Given the description of an element on the screen output the (x, y) to click on. 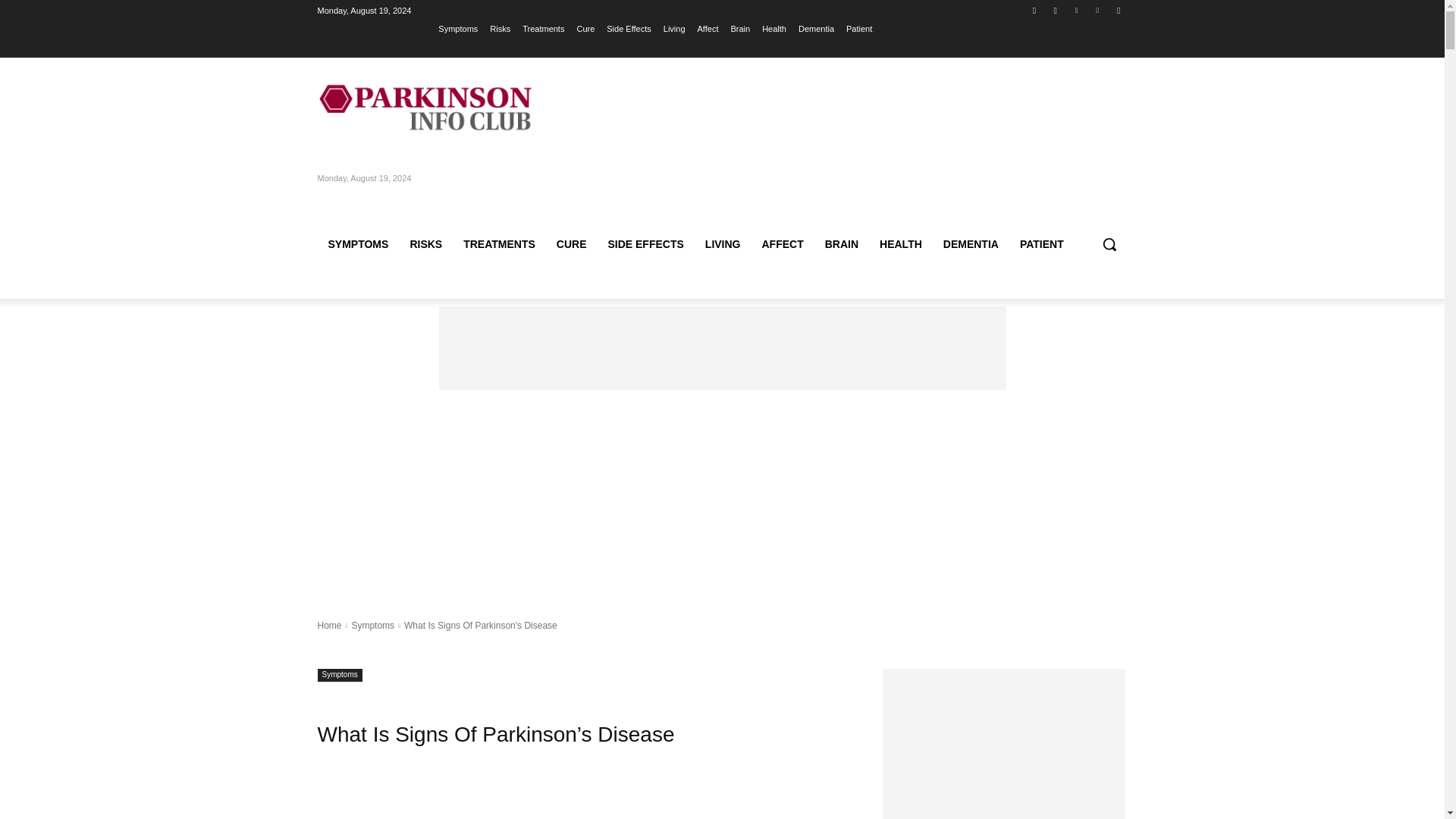
Patient (858, 28)
Dementia (815, 28)
RISKS (425, 244)
Living (674, 28)
Vimeo (1097, 9)
Parkinson's Info Club (425, 108)
Brain (739, 28)
Side Effects (628, 28)
Facebook (1034, 9)
Symptoms (457, 28)
